Given the description of an element on the screen output the (x, y) to click on. 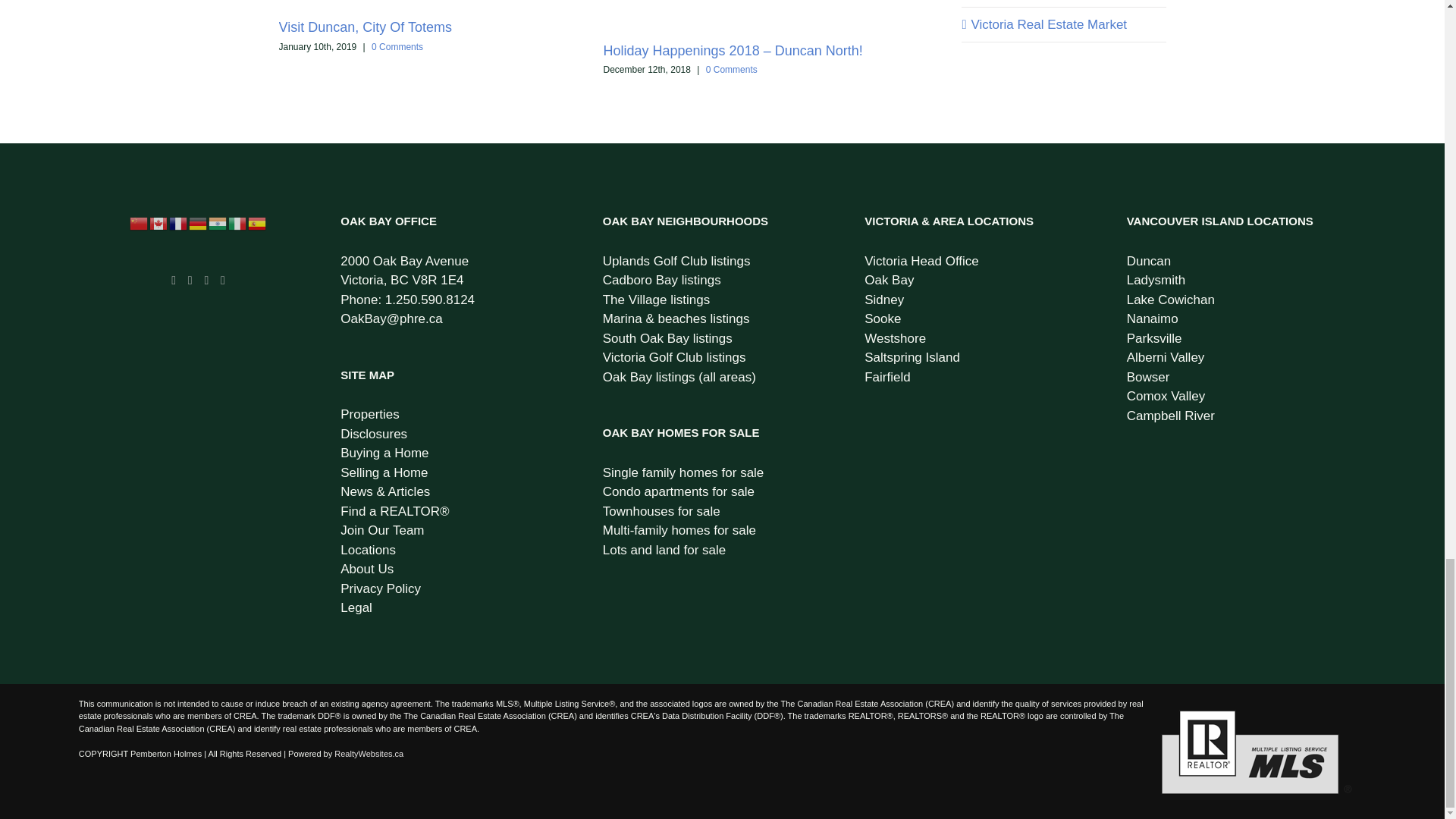
French (178, 222)
Visit Duncan, City of Totems (365, 27)
English (158, 222)
